Given the description of an element on the screen output the (x, y) to click on. 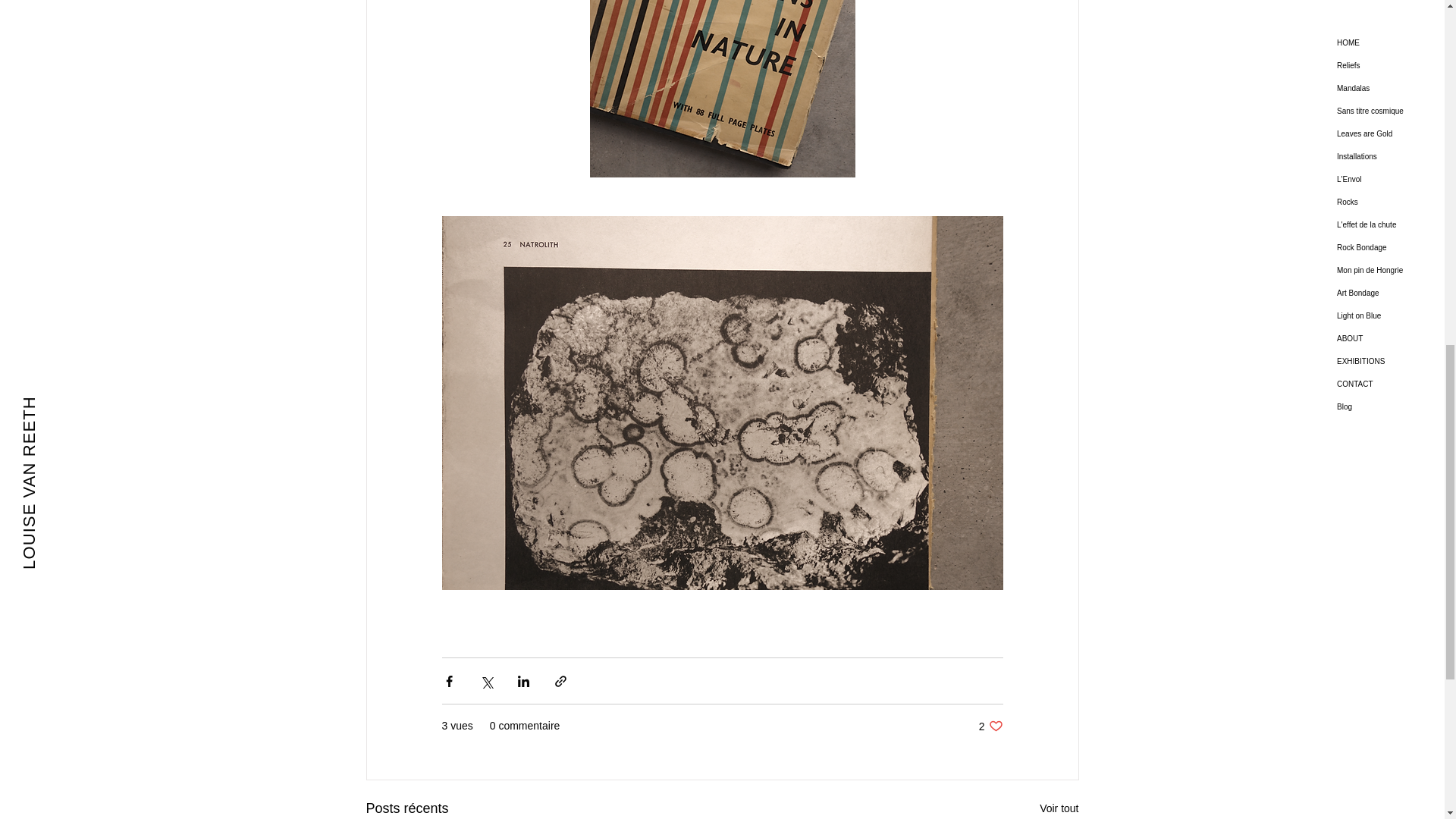
Voir tout (990, 726)
